Given the description of an element on the screen output the (x, y) to click on. 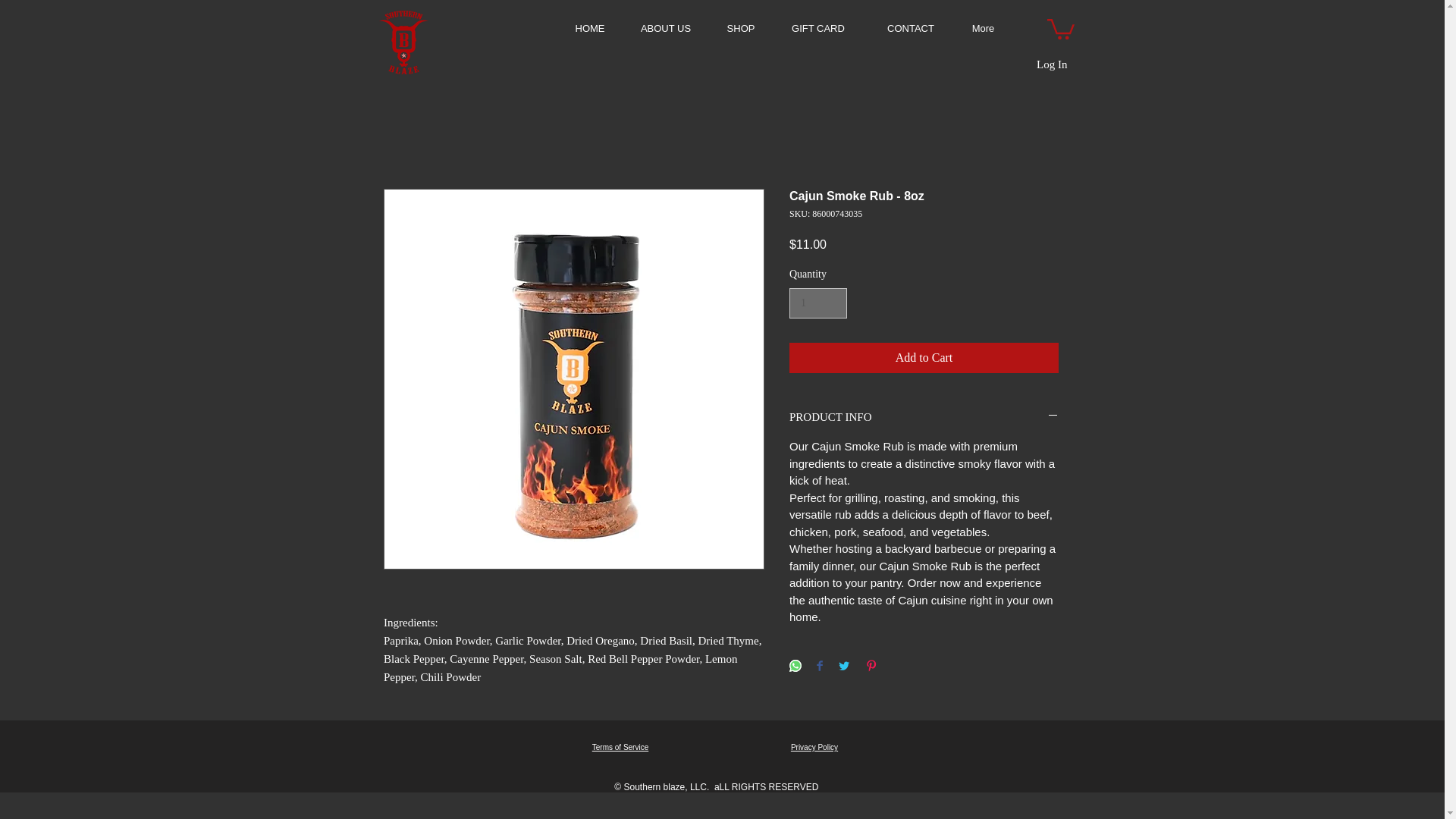
GIFT CARD (817, 28)
ABOUT US (664, 28)
HOME (590, 28)
Terms of Service (619, 746)
1 (818, 303)
Add to Cart (923, 358)
CONTACT (911, 28)
PRODUCT INFO (923, 417)
Log In (1051, 64)
Privacy Policy (814, 746)
SHOP (741, 28)
